Given the description of an element on the screen output the (x, y) to click on. 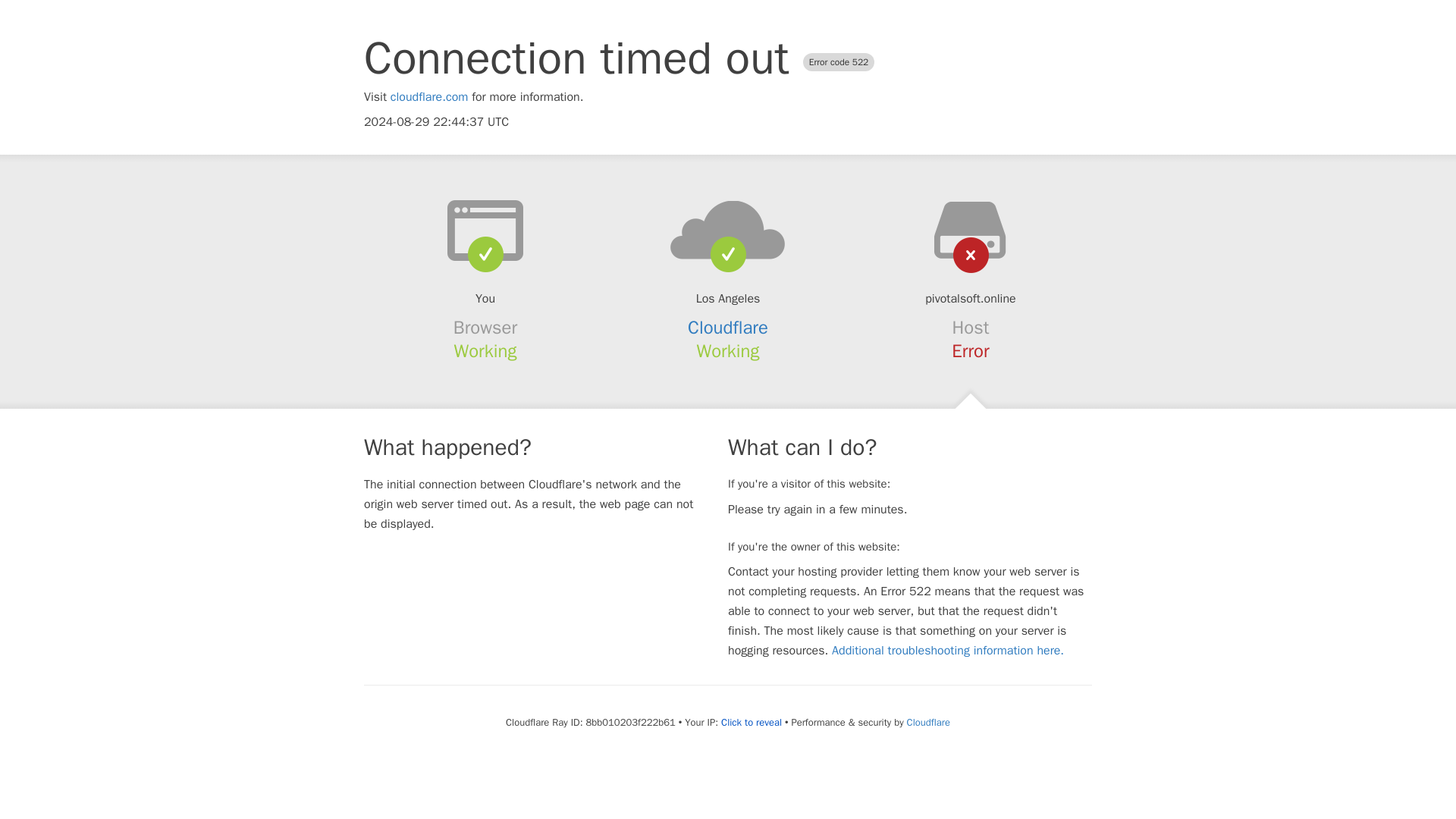
Cloudflare (928, 721)
Additional troubleshooting information here. (947, 650)
Click to reveal (750, 722)
Cloudflare (727, 327)
cloudflare.com (429, 96)
